Given the description of an element on the screen output the (x, y) to click on. 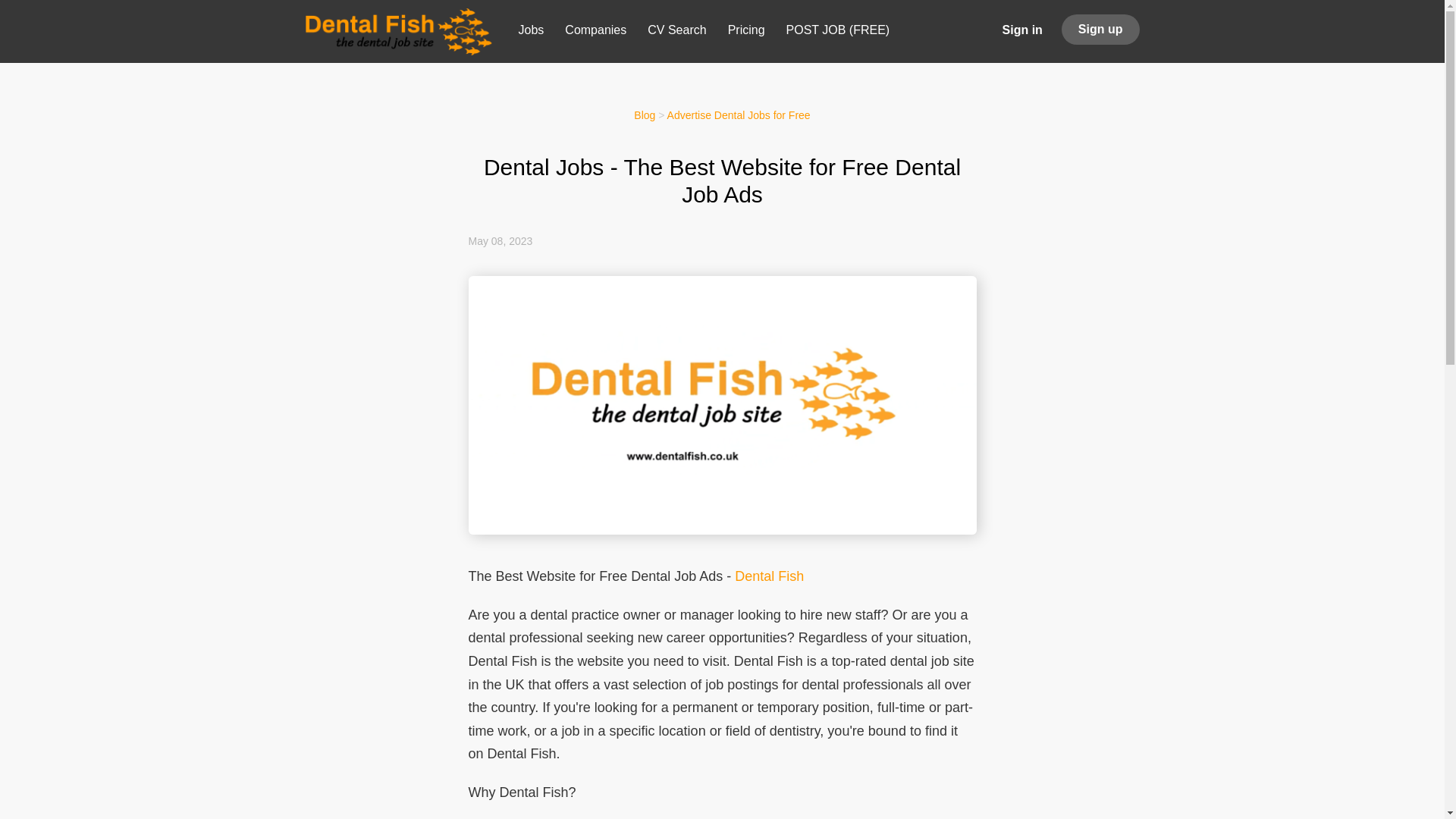
Sign in (1022, 28)
Jobs (531, 33)
Advertise Dental Jobs for Free (738, 114)
Companies (595, 33)
Sign up (1100, 29)
Pricing (746, 33)
Dental Fish (769, 575)
Blog (644, 114)
CV Search (676, 33)
